Given the description of an element on the screen output the (x, y) to click on. 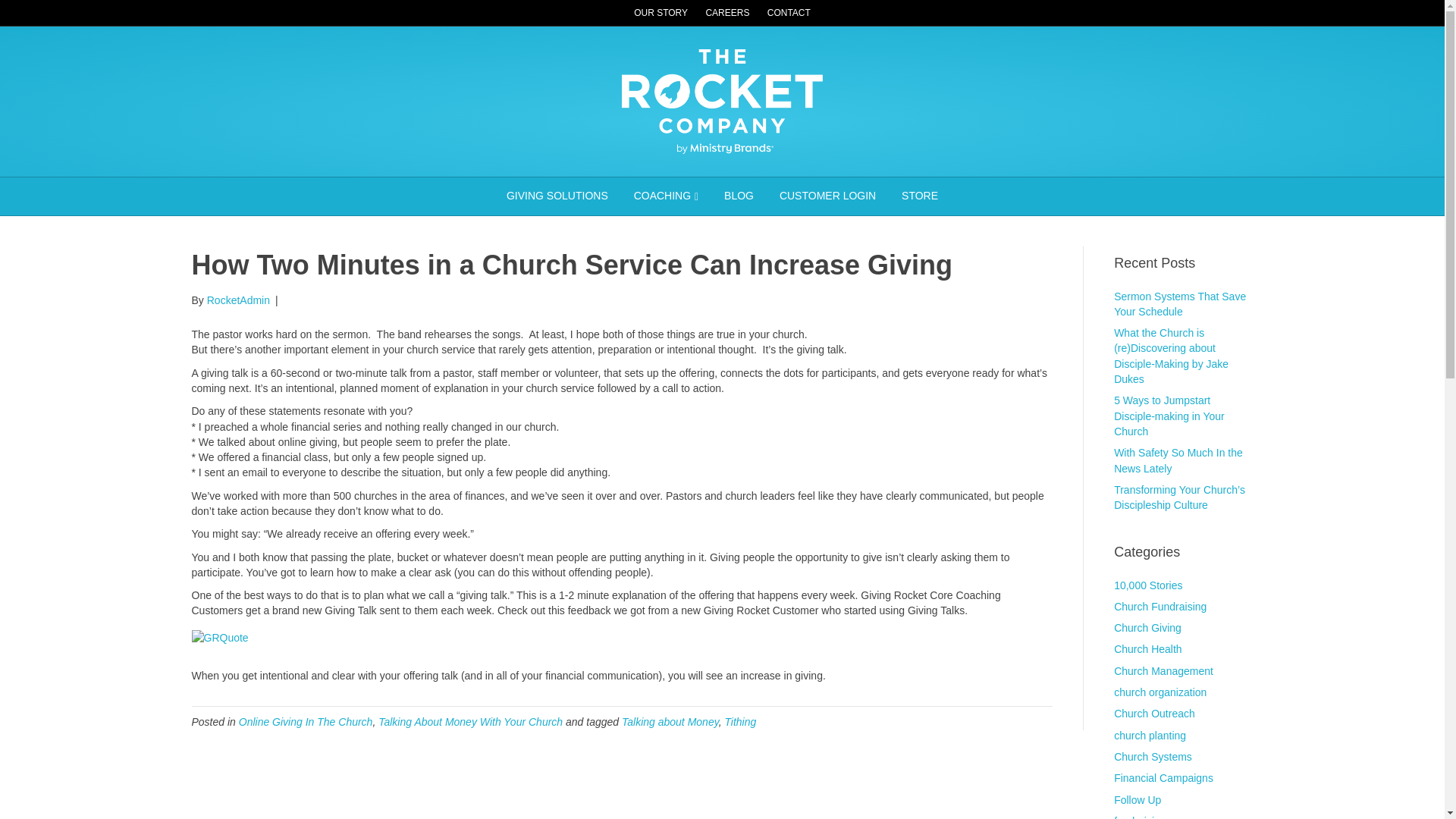
Church Health (1147, 648)
RocketAdmin (237, 300)
church organization (1160, 692)
COACHING (666, 196)
Church Systems (1152, 756)
STORE (919, 196)
Talking About Money With Your Church (470, 721)
10,000 Stories (1147, 585)
Church Management (1162, 671)
CAREERS (727, 13)
OUR STORY (660, 13)
Church Giving (1146, 627)
Tithing (739, 721)
5 Ways to Jumpstart Disciple-making in Your Church (1168, 415)
fundraising (1139, 816)
